Given the description of an element on the screen output the (x, y) to click on. 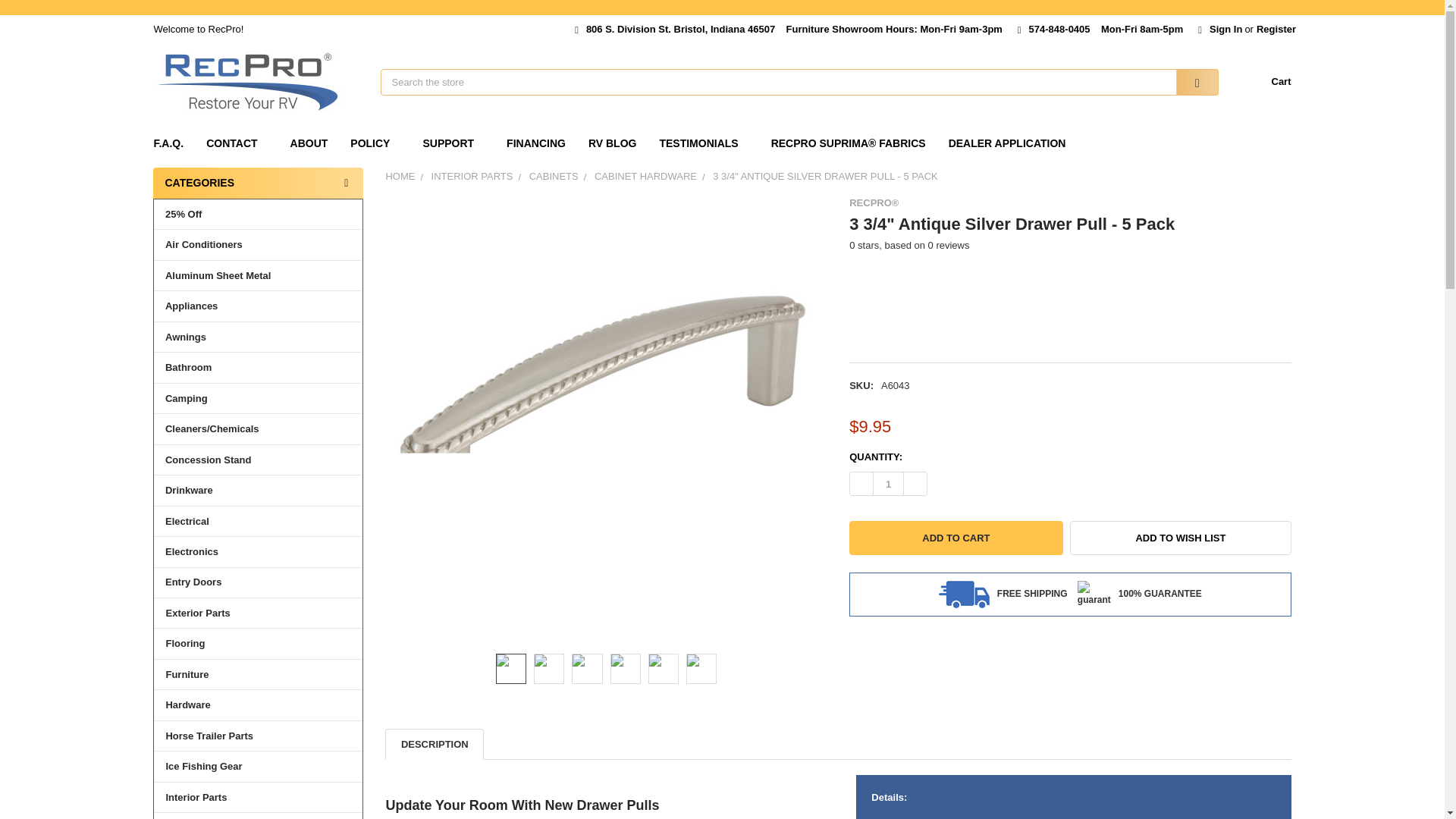
Sign In (1220, 25)
Add to Cart (955, 537)
1 (887, 483)
Search (1187, 81)
Cart (1262, 81)
RecPro (247, 82)
Register (1275, 25)
574-848-0405    Mon-Fri 8am-5pm (1100, 25)
Cart (1262, 81)
